Given the description of an element on the screen output the (x, y) to click on. 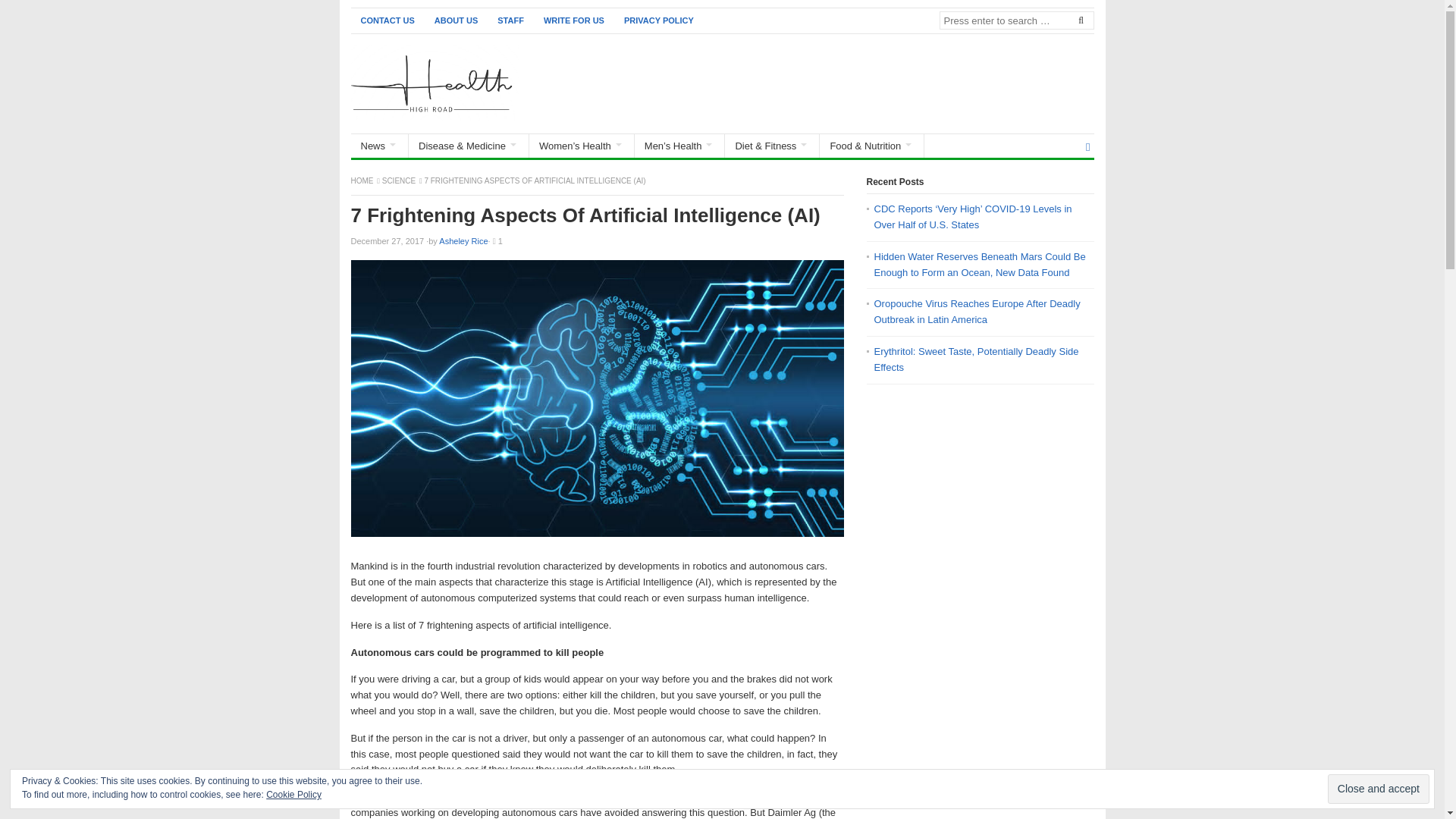
ABOUT US (456, 20)
Science (398, 180)
STAFF (510, 20)
PRIVACY POLICY (658, 20)
CONTACT US (386, 20)
Search for: (1016, 20)
Close and accept (1378, 788)
WRITE FOR US (574, 20)
Health Highroad (362, 180)
